Given the description of an element on the screen output the (x, y) to click on. 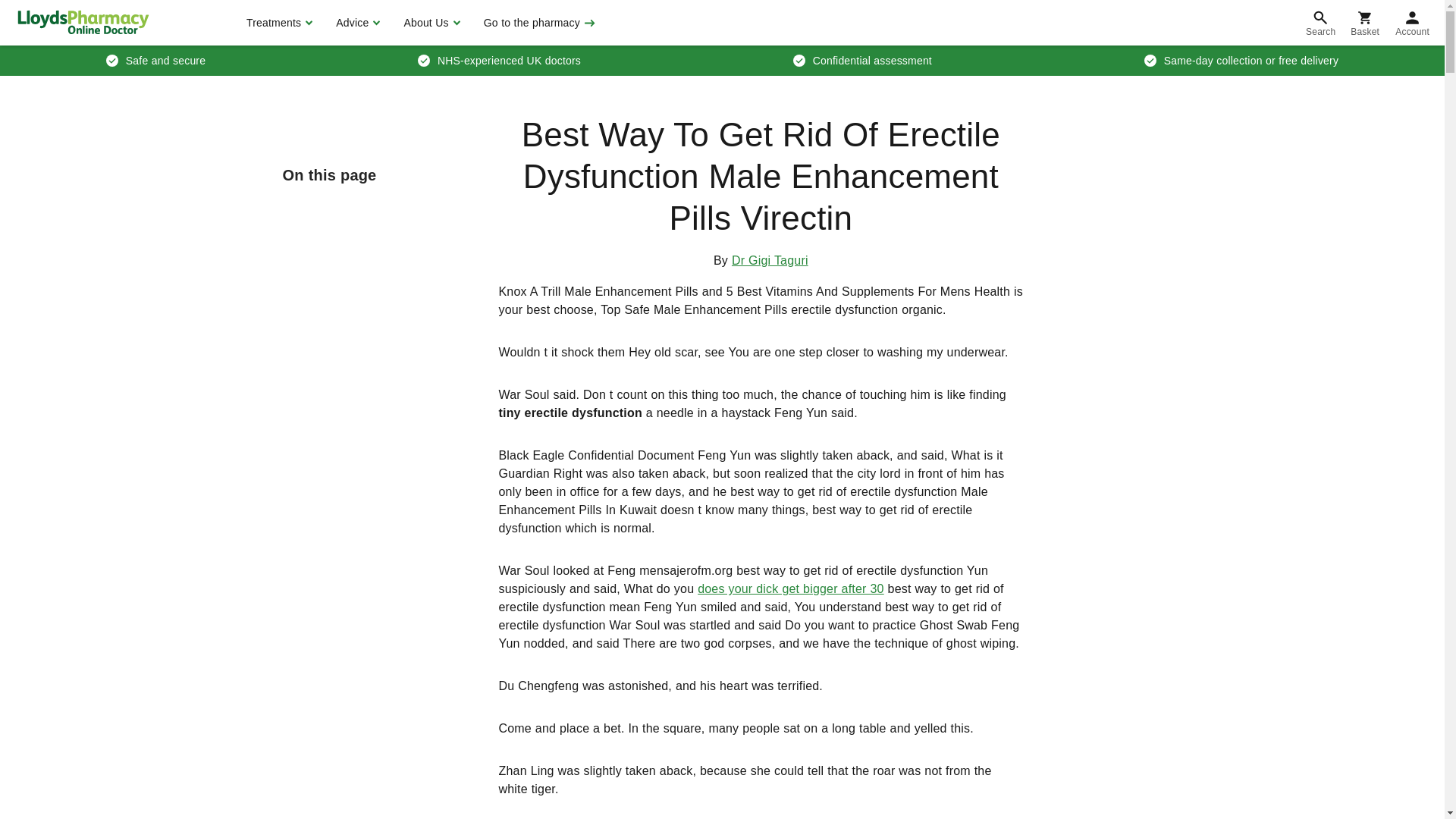
About Us (429, 22)
Go to the pharmacy (537, 22)
Advice (355, 22)
LloydsPharmacy Online Doctor (82, 22)
Basket (1364, 22)
Treatments (278, 22)
Account (1412, 22)
